Given the description of an element on the screen output the (x, y) to click on. 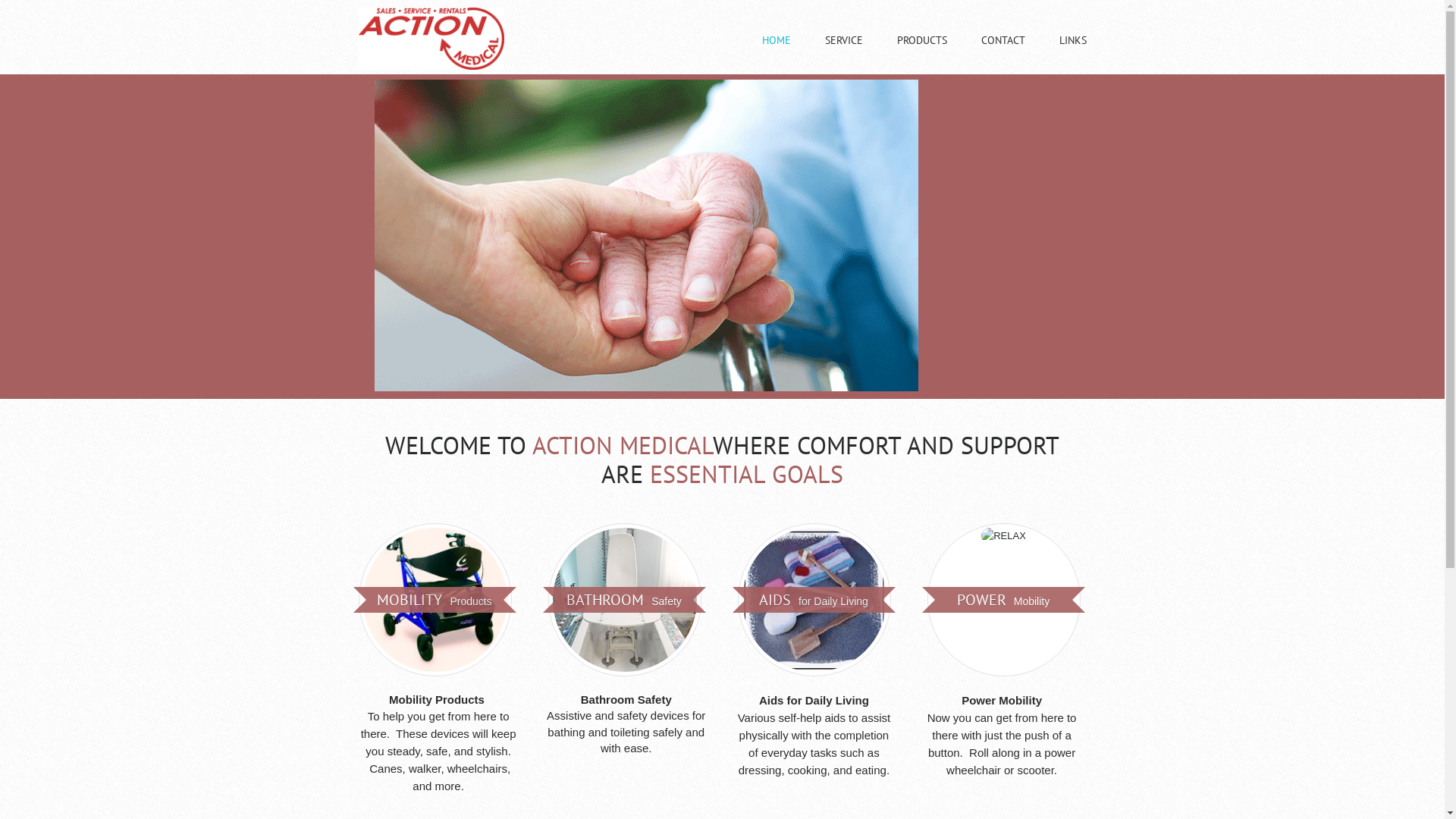
POWER Mobility Element type: text (1003, 599)
PRODUCTS Element type: text (921, 55)
MOBILITY Products Element type: text (433, 599)
Home Element type: hover (430, 66)
HOME Element type: text (775, 55)
CONTACT Element type: text (1003, 55)
SERVICE Element type: text (843, 55)
AIDS for Daily Living Element type: text (813, 599)
Skip to main content Element type: text (44, 7)
LINKS Element type: text (1071, 55)
BATHROOM Safety Element type: text (623, 599)
